Given the description of an element on the screen output the (x, y) to click on. 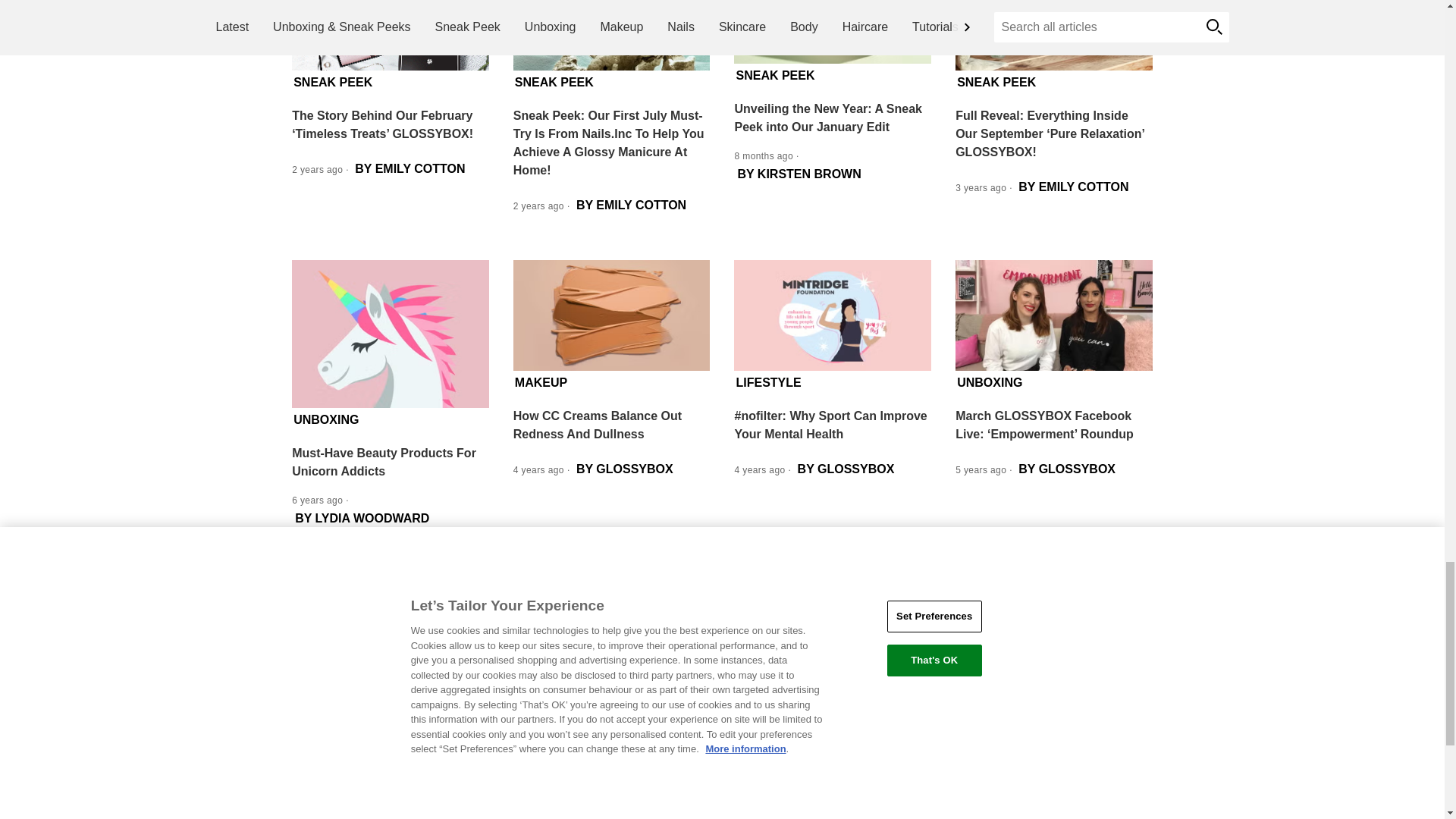
facebook (751, 633)
twitter (794, 633)
instagram (837, 633)
pinterest (879, 633)
